Given the description of an element on the screen output the (x, y) to click on. 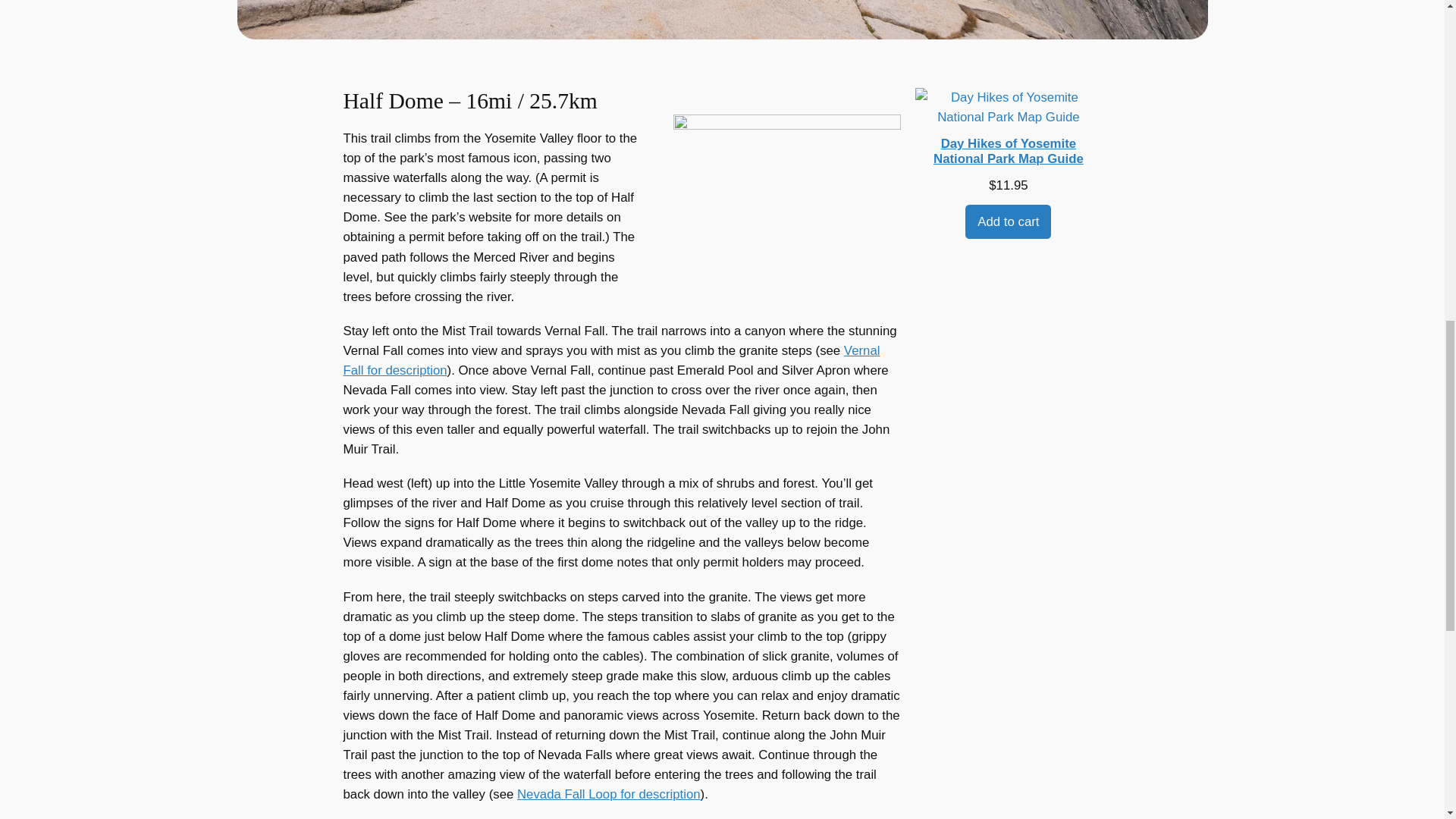
Day Hikes of Yosemite National Park Map Guide (1007, 131)
Vernal Fall for description (610, 360)
Nevada Fall Loop for description (608, 794)
Add to cart (1008, 221)
